Given the description of an element on the screen output the (x, y) to click on. 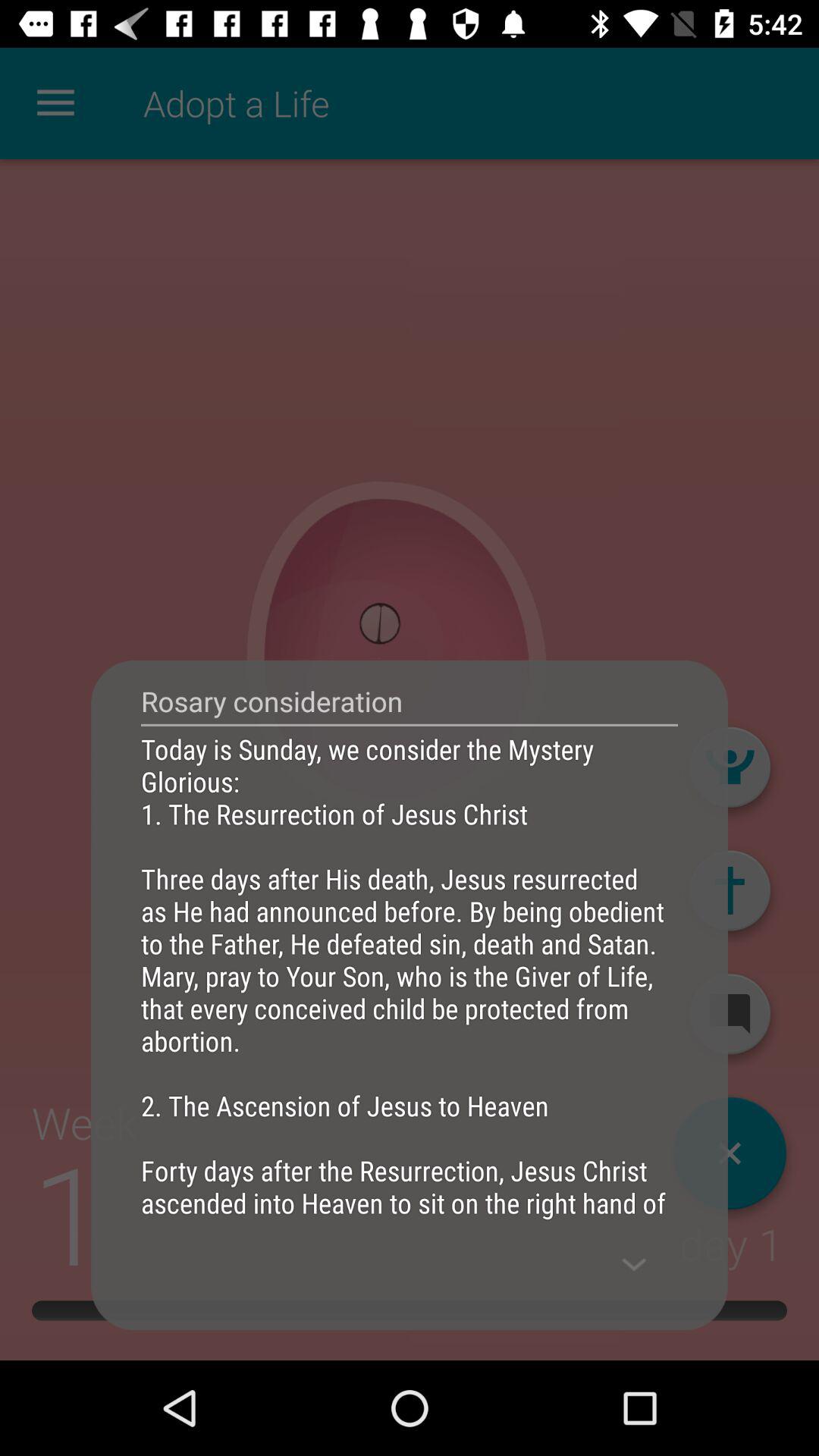
turn off item at the bottom right corner (633, 1264)
